Given the description of an element on the screen output the (x, y) to click on. 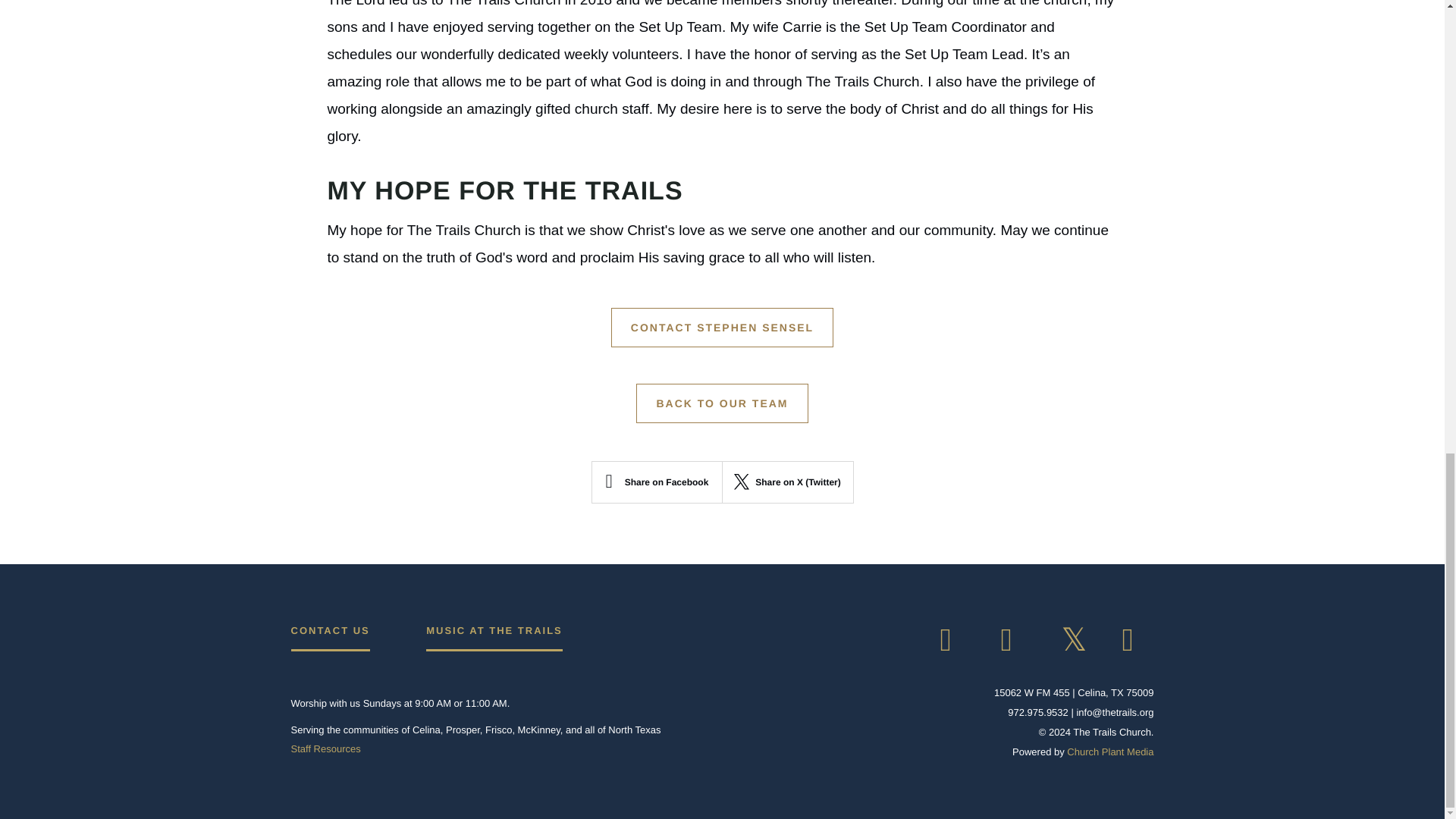
facebook (955, 640)
twitter (1077, 640)
instagram (1016, 640)
mail (1137, 640)
